Given the description of an element on the screen output the (x, y) to click on. 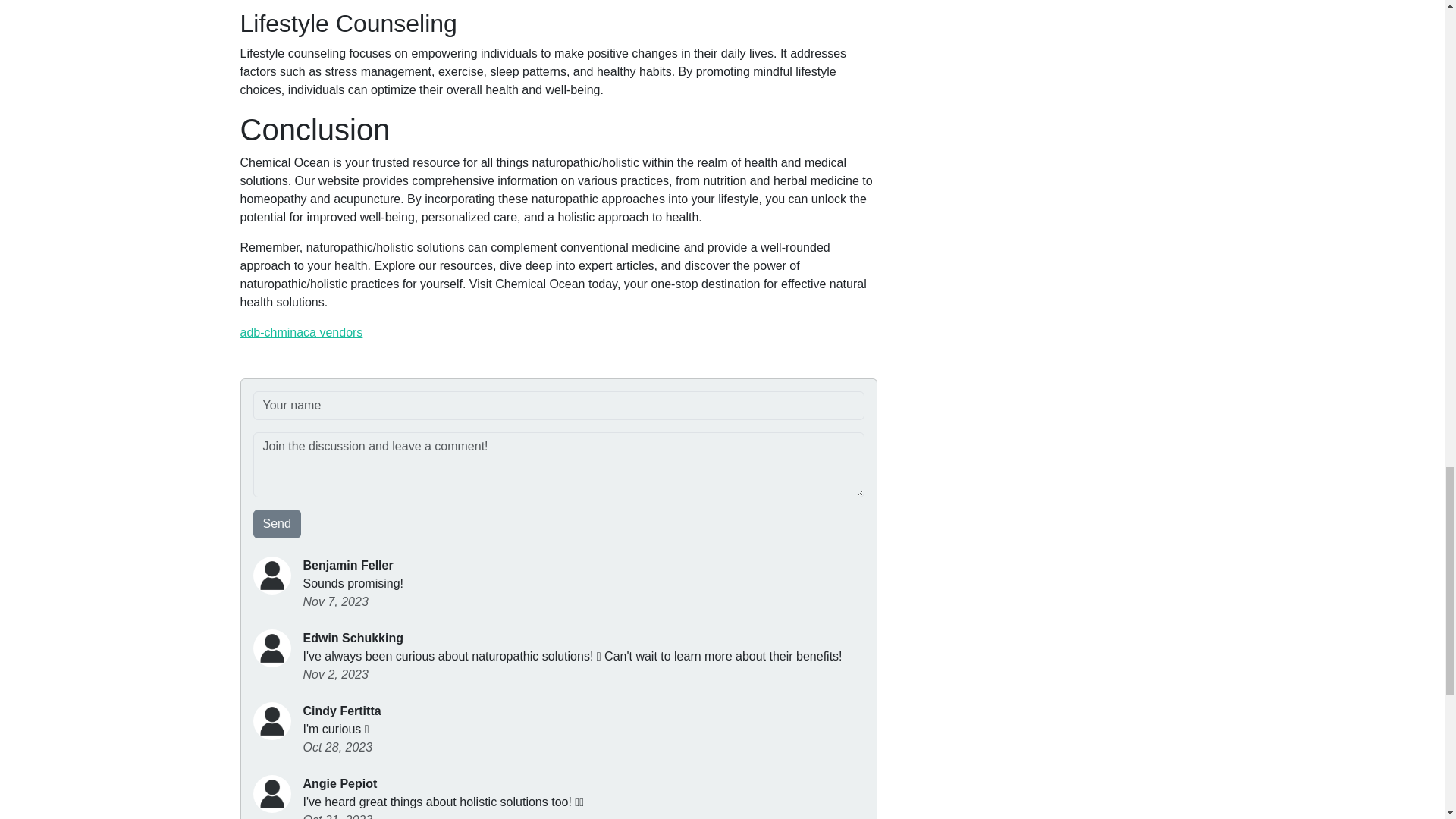
Send (277, 523)
adb-chminaca vendors (301, 332)
Send (277, 523)
